Given the description of an element on the screen output the (x, y) to click on. 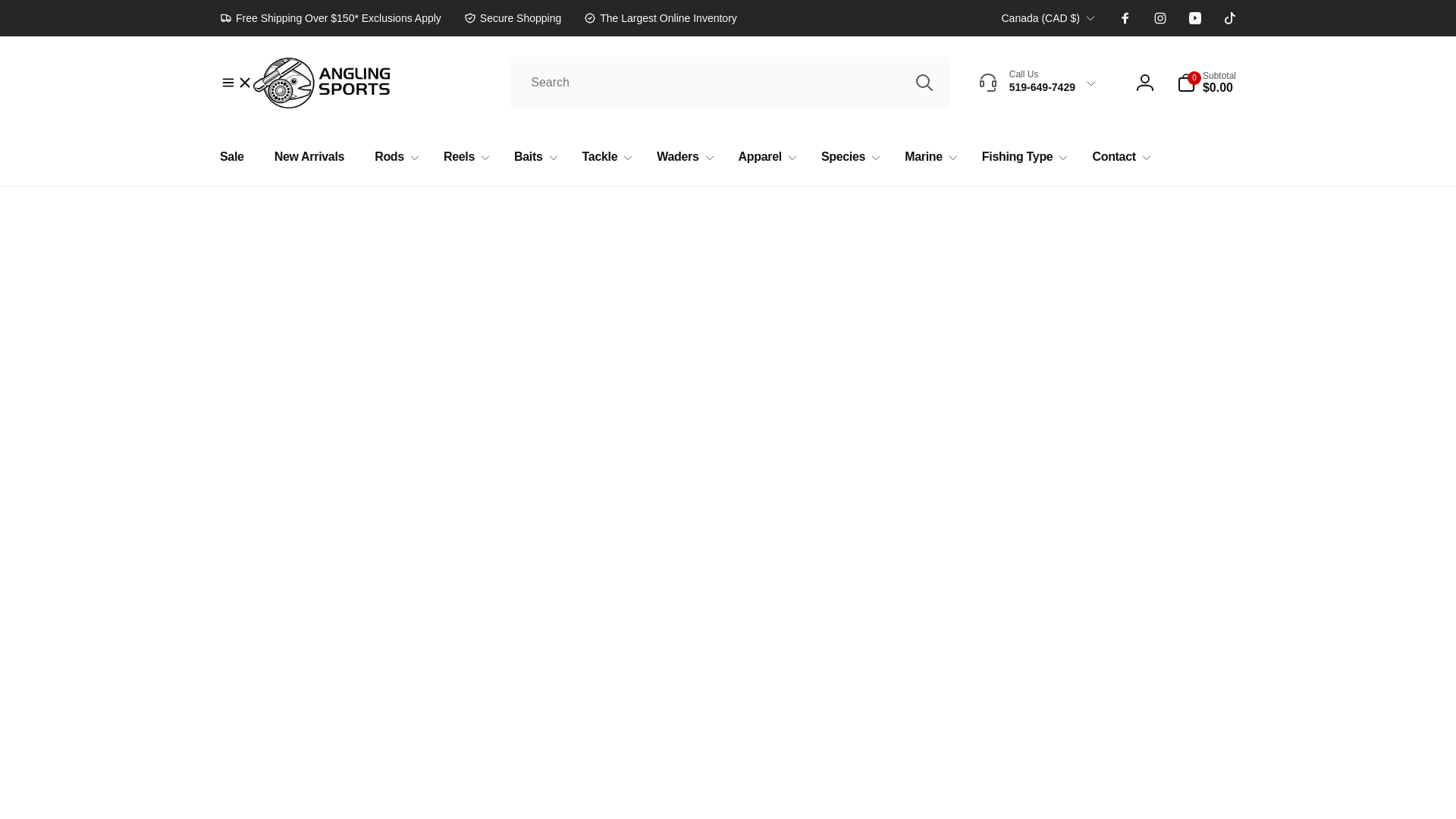
YouTube (1195, 18)
Secure Shopping (512, 17)
Instagram (1160, 18)
Facebook (1125, 18)
Skip to content (16, 8)
TikTok (1230, 18)
The Largest Online Inventory (659, 17)
